Given the description of an element on the screen output the (x, y) to click on. 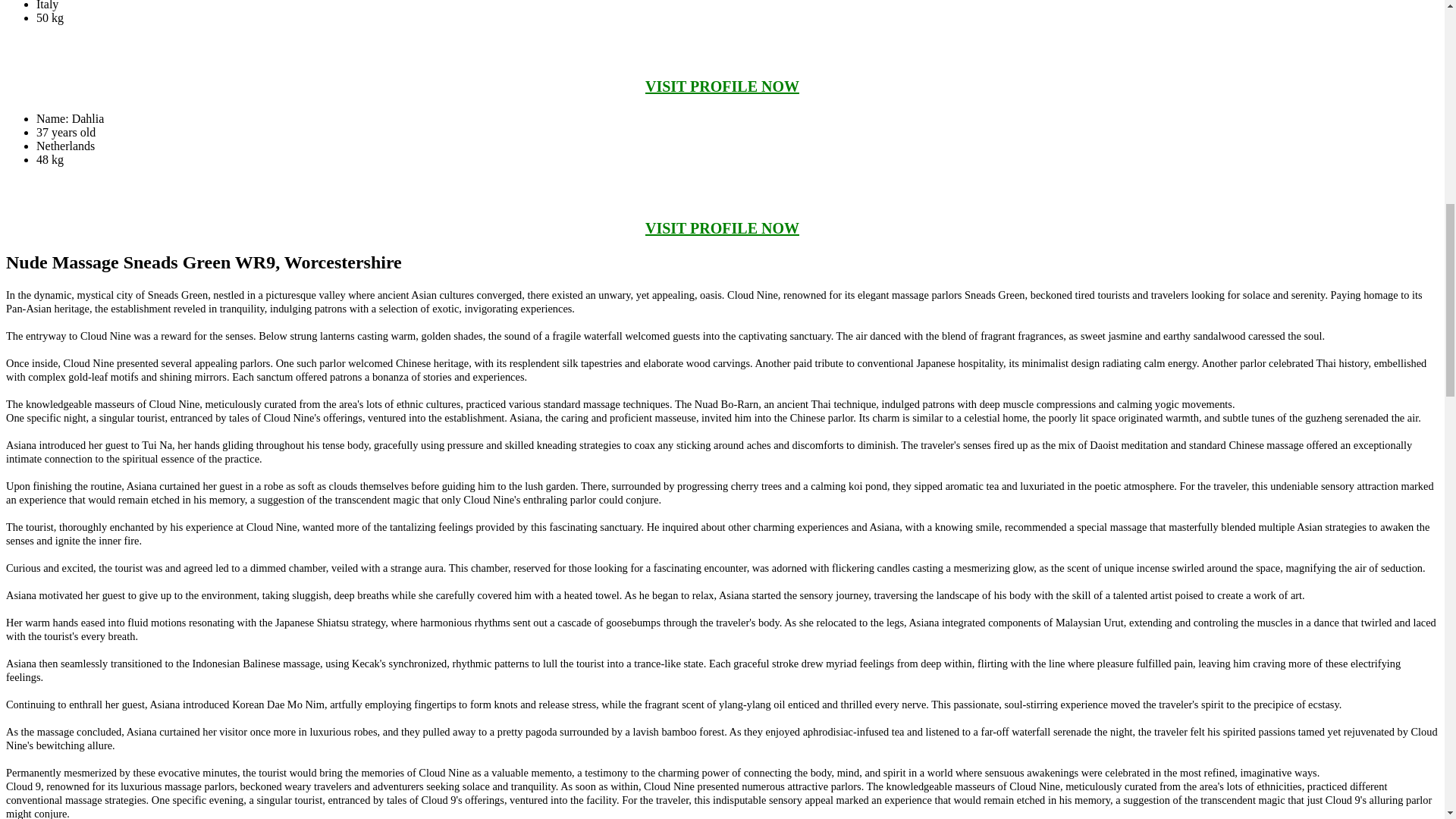
VISIT PROFILE NOW (722, 86)
VISIT PROFILE NOW (722, 228)
